Given the description of an element on the screen output the (x, y) to click on. 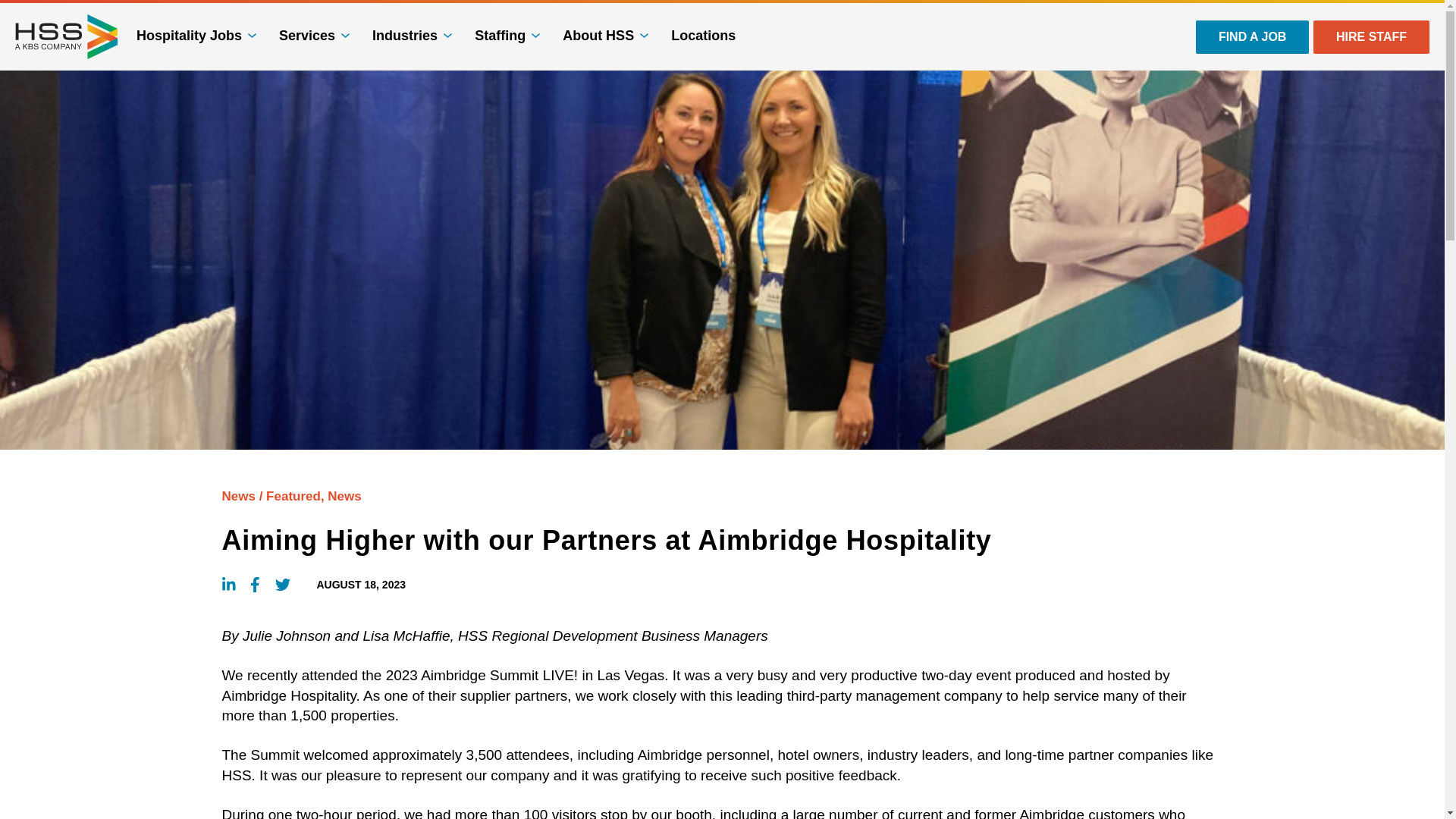
Services (314, 35)
Hospitality Staffing Solutions (65, 36)
Staffing (507, 35)
Hospitality Jobs (196, 35)
Industries (411, 35)
About HSS (604, 35)
